Given the description of an element on the screen output the (x, y) to click on. 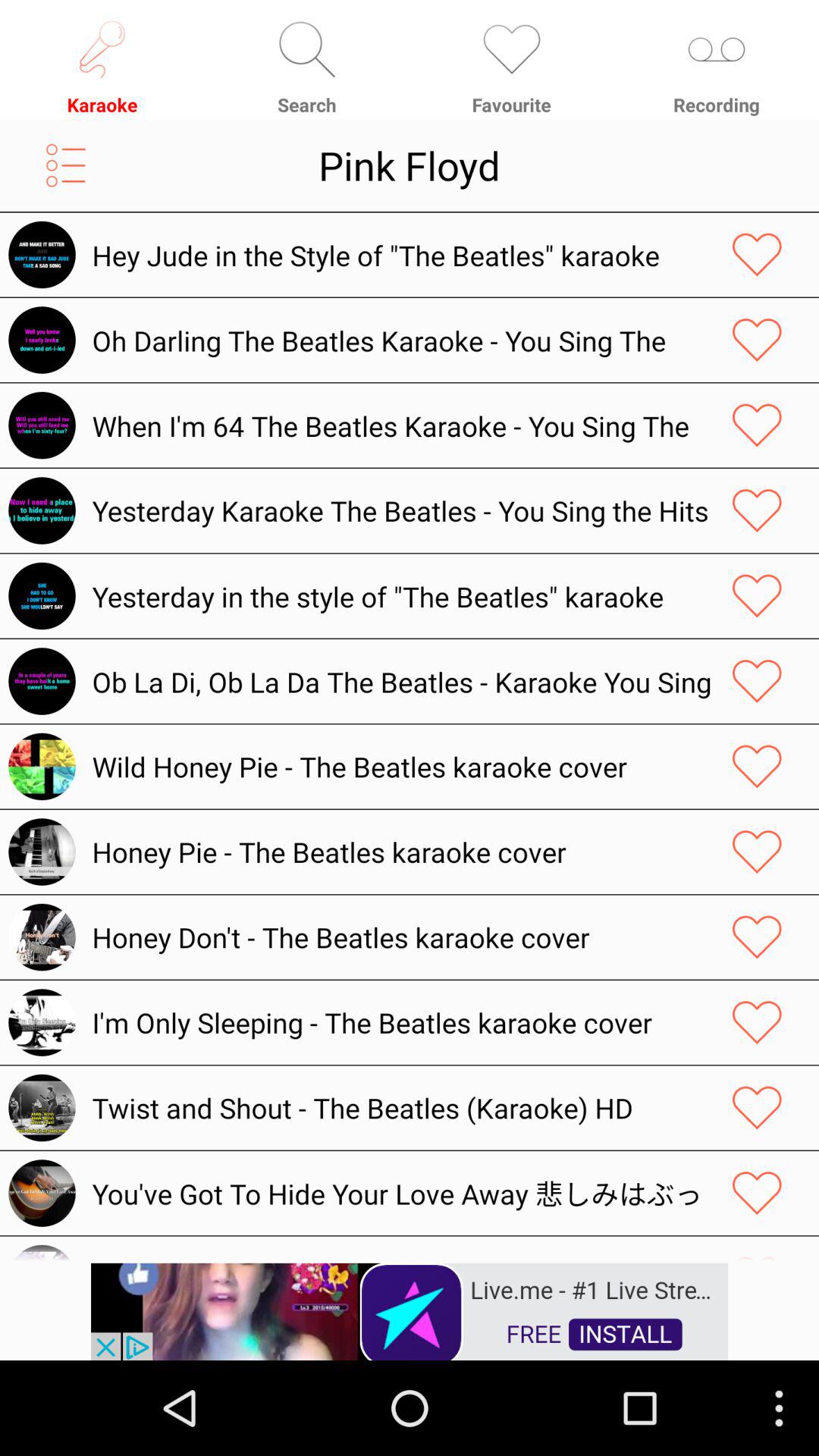
favorite (756, 937)
